Given the description of an element on the screen output the (x, y) to click on. 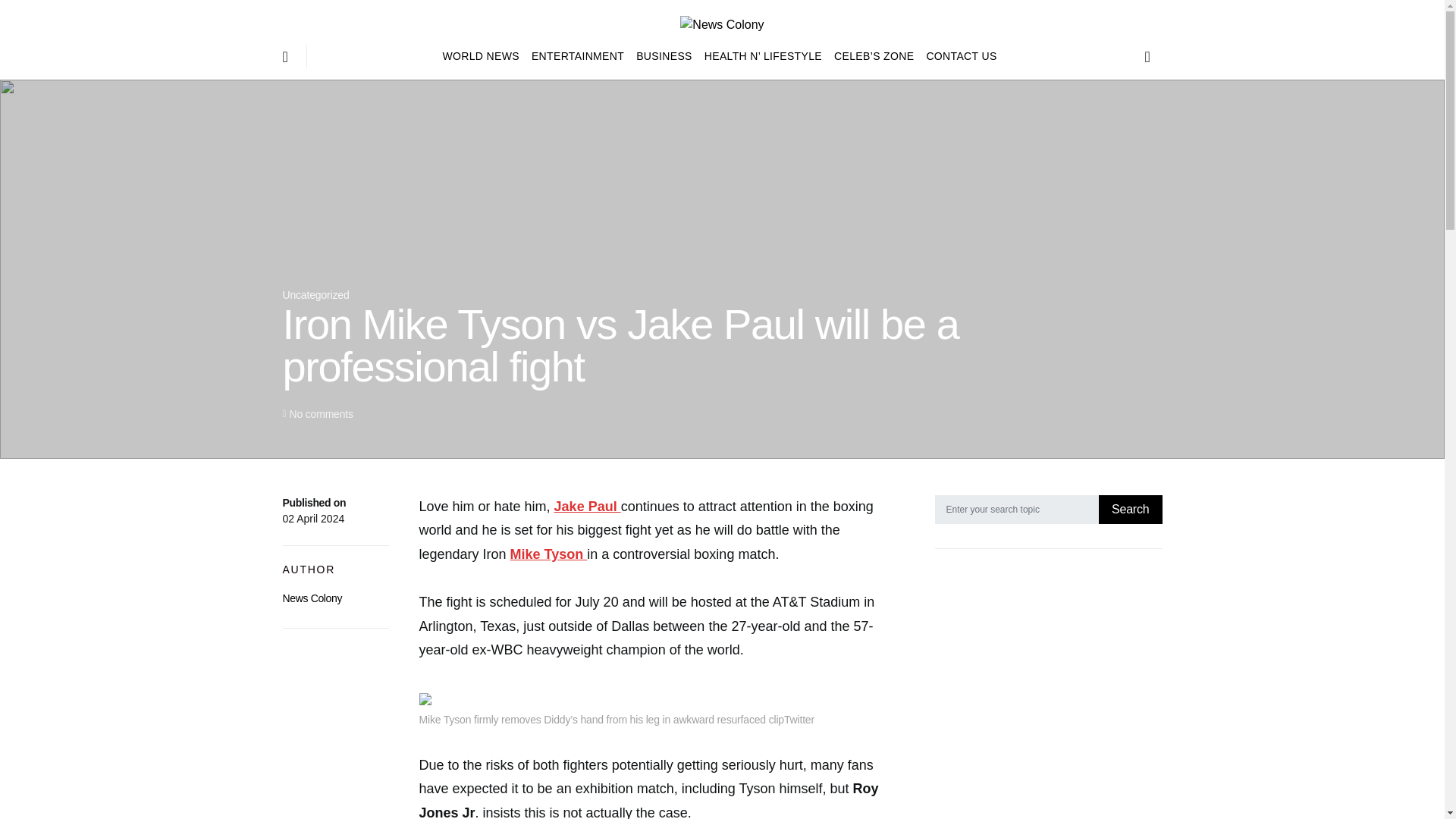
CONTACT US (957, 56)
No comments (320, 414)
WORLD NEWS (483, 56)
News Colony (312, 598)
Jake Paul (587, 506)
Advertisement (1047, 696)
Mike Tyson (549, 554)
BUSINESS (664, 56)
ENTERTAINMENT (577, 56)
